Given the description of an element on the screen output the (x, y) to click on. 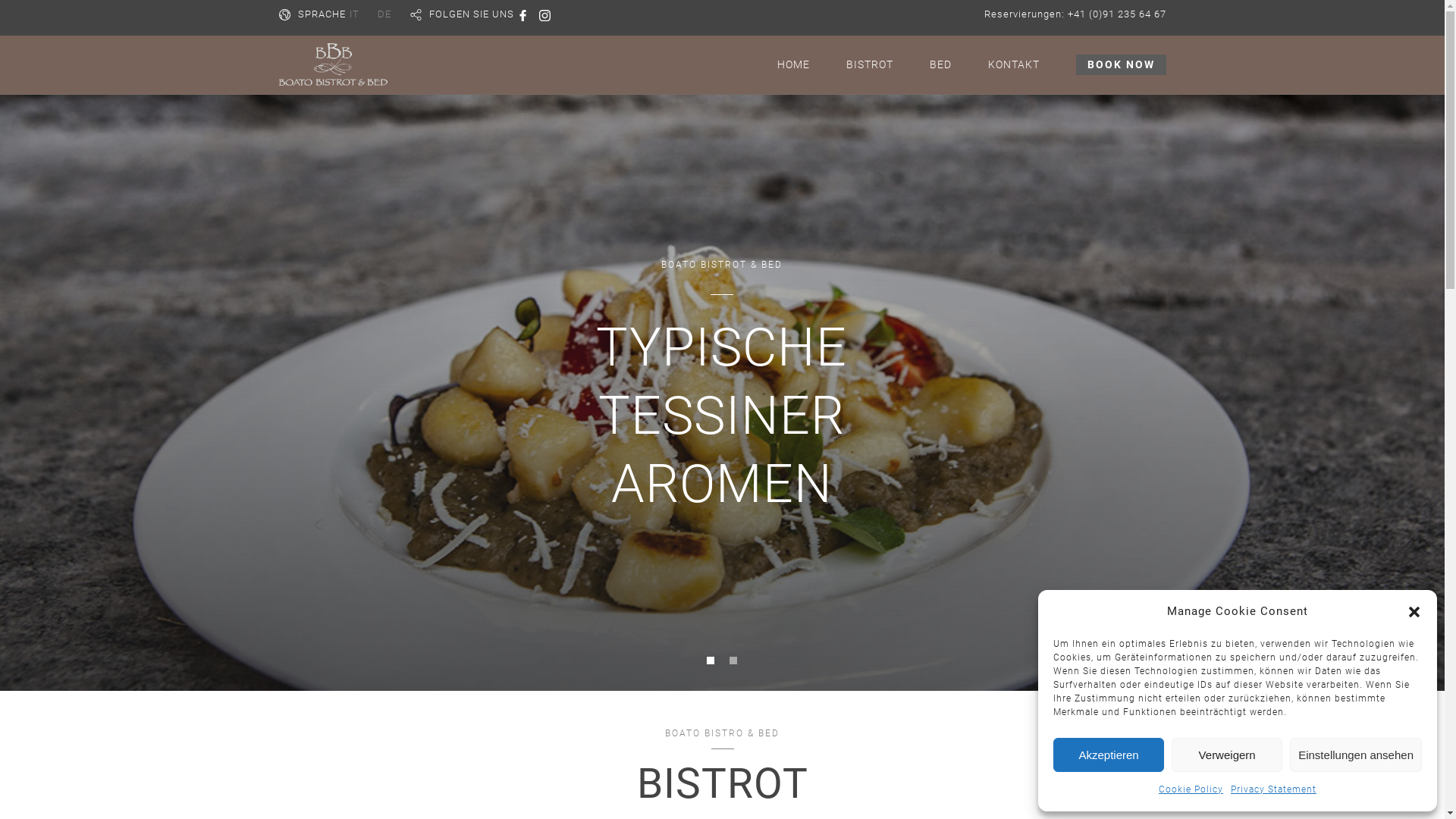
Cookie Policy Element type: text (1190, 789)
Akzeptieren Element type: text (1108, 754)
DE Element type: text (384, 14)
Verweigern Element type: text (1226, 754)
Privacy Statement Element type: text (1273, 789)
BED Element type: text (940, 64)
FOLGEN SIE UNS Element type: text (471, 13)
Reservierungen: +41 (0)91 235 64 67 Element type: text (1075, 13)
IT Element type: text (353, 14)
BISTROT Element type: text (869, 64)
BOOK NOW Element type: text (1120, 64)
SPRACHE Element type: text (321, 13)
HOME Element type: text (792, 64)
Einstellungen ansehen Element type: text (1355, 754)
KONTAKT Element type: text (1012, 64)
